Given the description of an element on the screen output the (x, y) to click on. 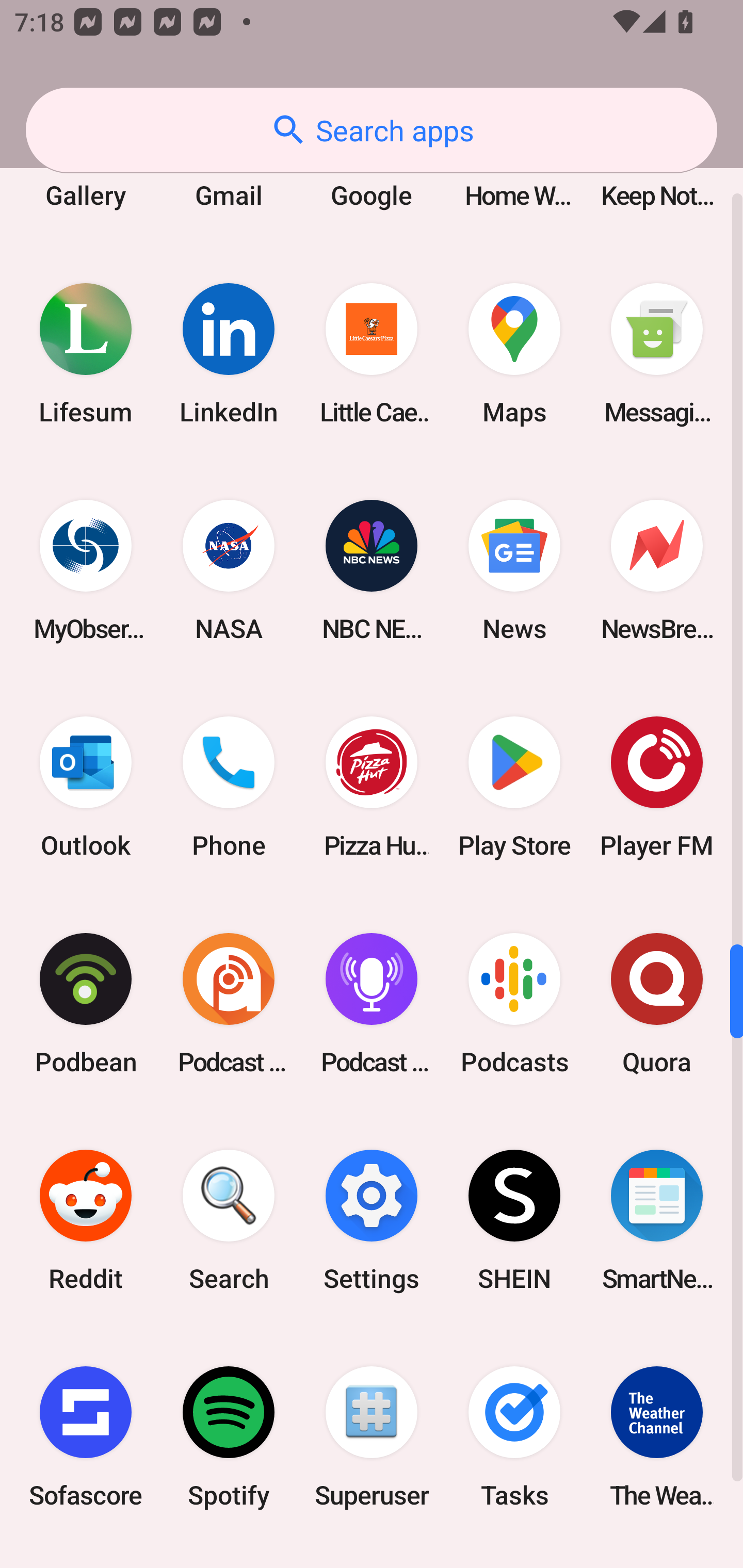
  Search apps (371, 130)
Lifesum (85, 354)
LinkedIn (228, 354)
Little Caesars Pizza (371, 354)
Maps (514, 354)
Messaging (656, 354)
MyObservatory (85, 570)
NASA (228, 570)
NBC NEWS (371, 570)
News (514, 570)
NewsBreak (656, 570)
Outlook (85, 786)
Phone (228, 786)
Pizza Hut HK & Macau (371, 786)
Play Store (514, 786)
Player FM (656, 786)
Podbean (85, 1003)
Podcast Addict (228, 1003)
Podcast Player (371, 1003)
Podcasts (514, 1003)
Quora (656, 1003)
Reddit (85, 1219)
Search (228, 1219)
Settings (371, 1219)
SHEIN (514, 1219)
SmartNews (656, 1219)
Sofascore (85, 1437)
Spotify (228, 1437)
Superuser (371, 1437)
Tasks (514, 1437)
The Weather Channel (656, 1437)
